Given the description of an element on the screen output the (x, y) to click on. 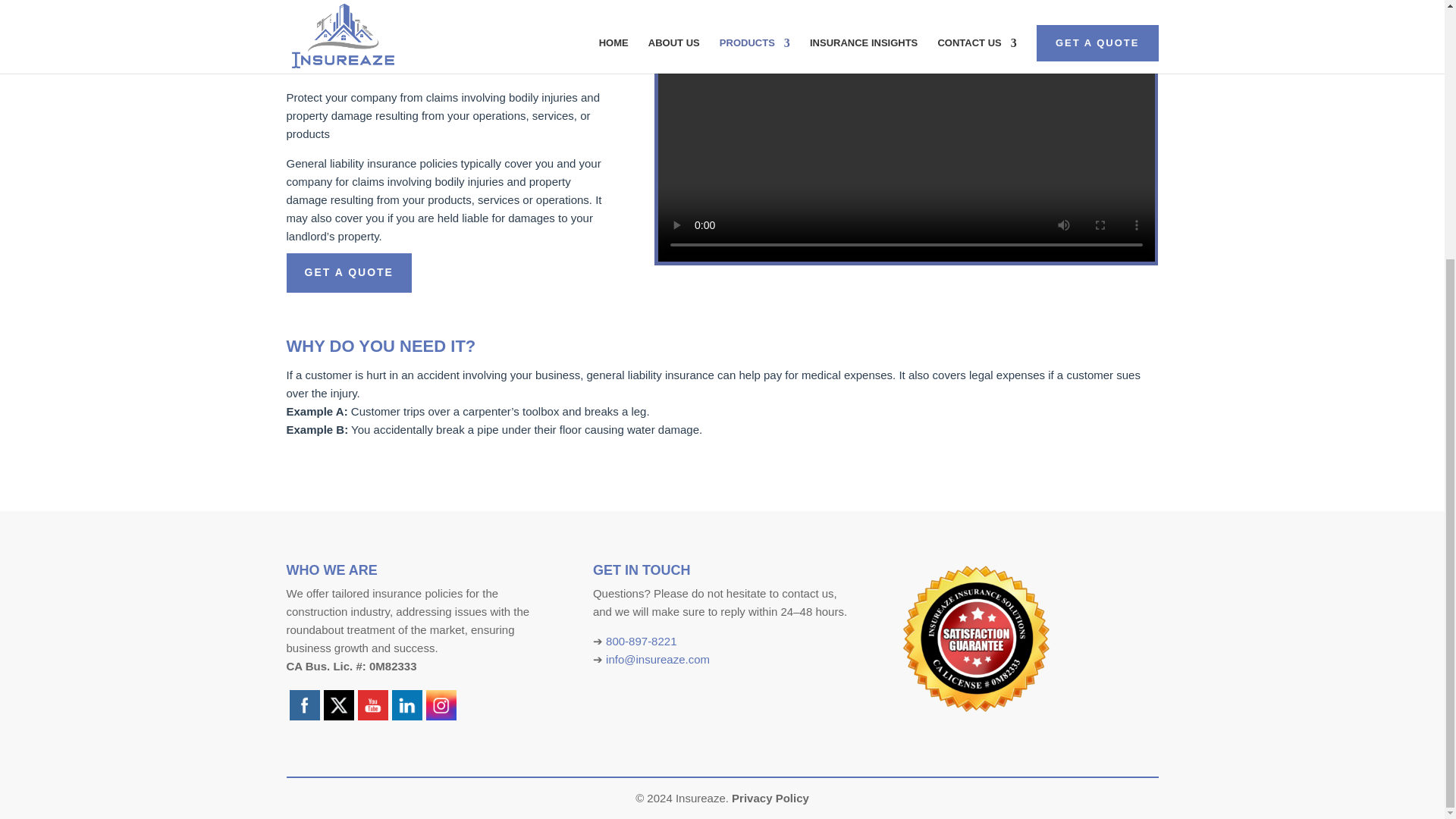
YouTube (373, 705)
LinkedIn (406, 705)
GET A QUOTE (349, 272)
Facebook (304, 705)
800-897-8221 (641, 640)
Instagram (441, 705)
Privacy Policy (770, 797)
